Given the description of an element on the screen output the (x, y) to click on. 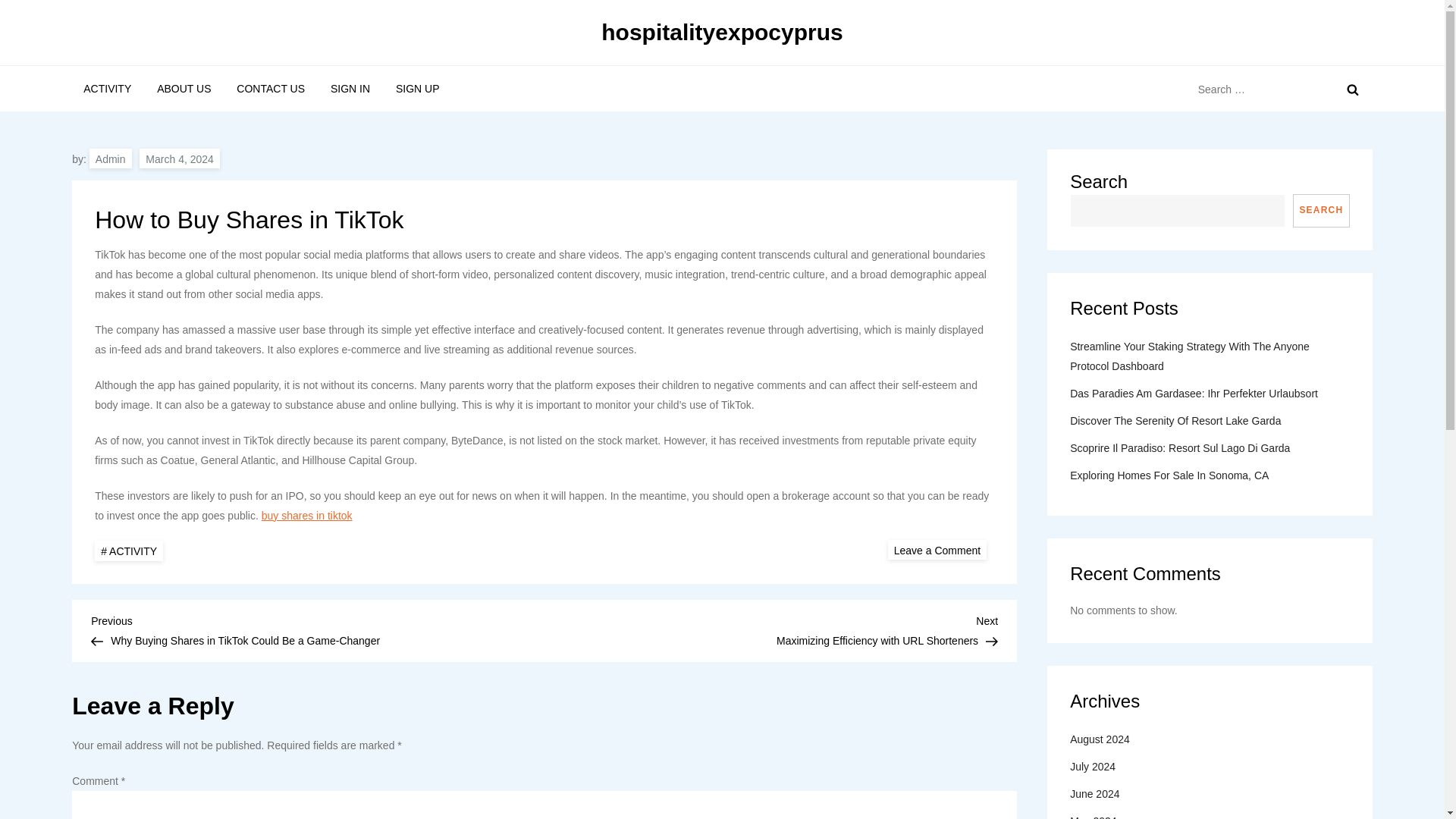
SIGN IN (349, 88)
hospitalityexpocyprus (722, 32)
Search (1353, 89)
May 2024 (937, 549)
buy shares in tiktok (1093, 815)
ABOUT US (307, 515)
Discover The Serenity Of Resort Lake Garda (770, 628)
Exploring Homes For Sale In Sonoma, CA (183, 88)
March 4, 2024 (1175, 420)
CONTACT US (1169, 475)
SEARCH (179, 158)
August 2024 (270, 88)
